Given the description of an element on the screen output the (x, y) to click on. 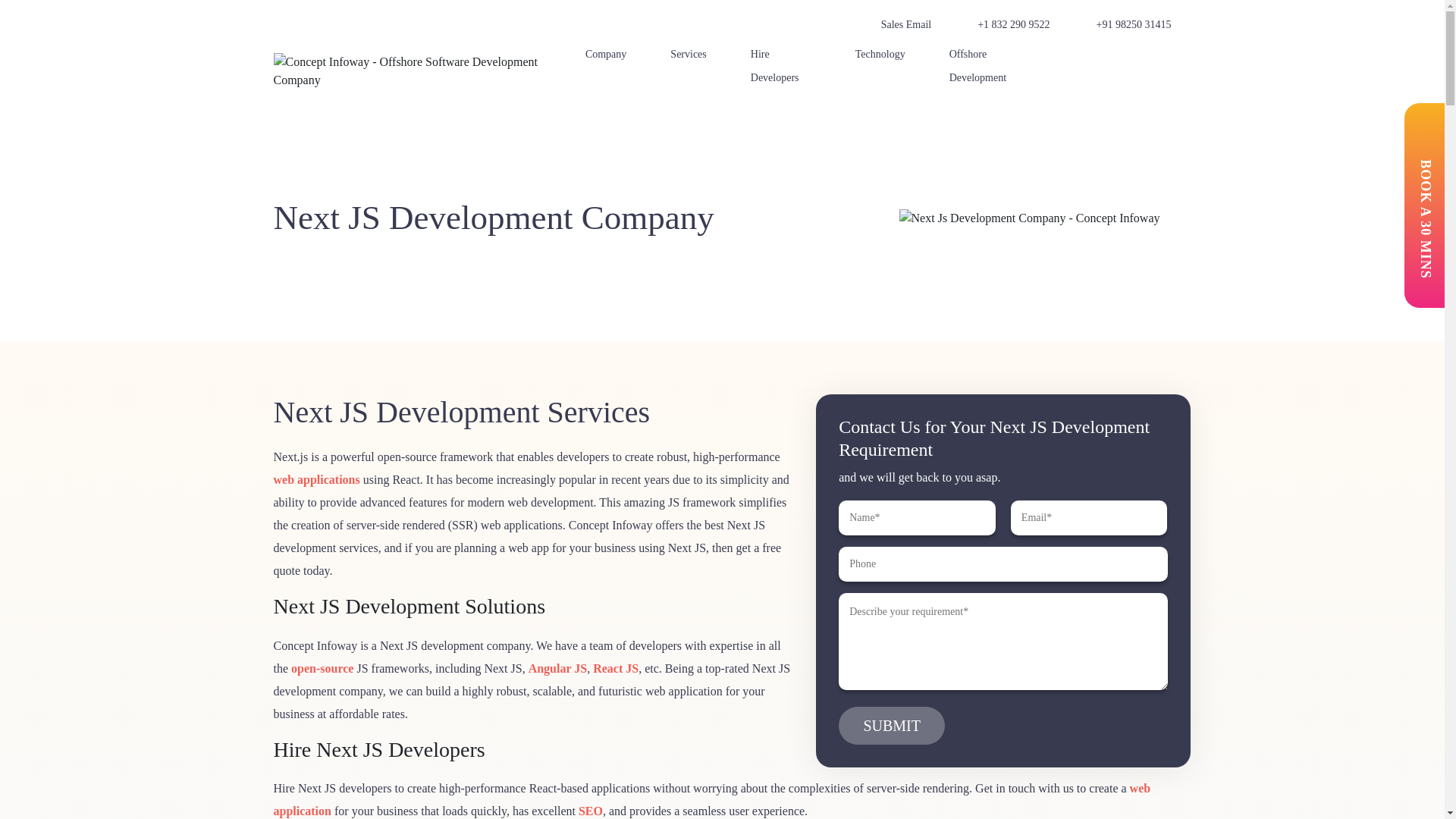
Sales Email (895, 24)
Company (614, 53)
Concept Infoway - Offshore Software Development Company (421, 69)
Submit (891, 725)
Sales Email (895, 24)
Services (695, 53)
